Given the description of an element on the screen output the (x, y) to click on. 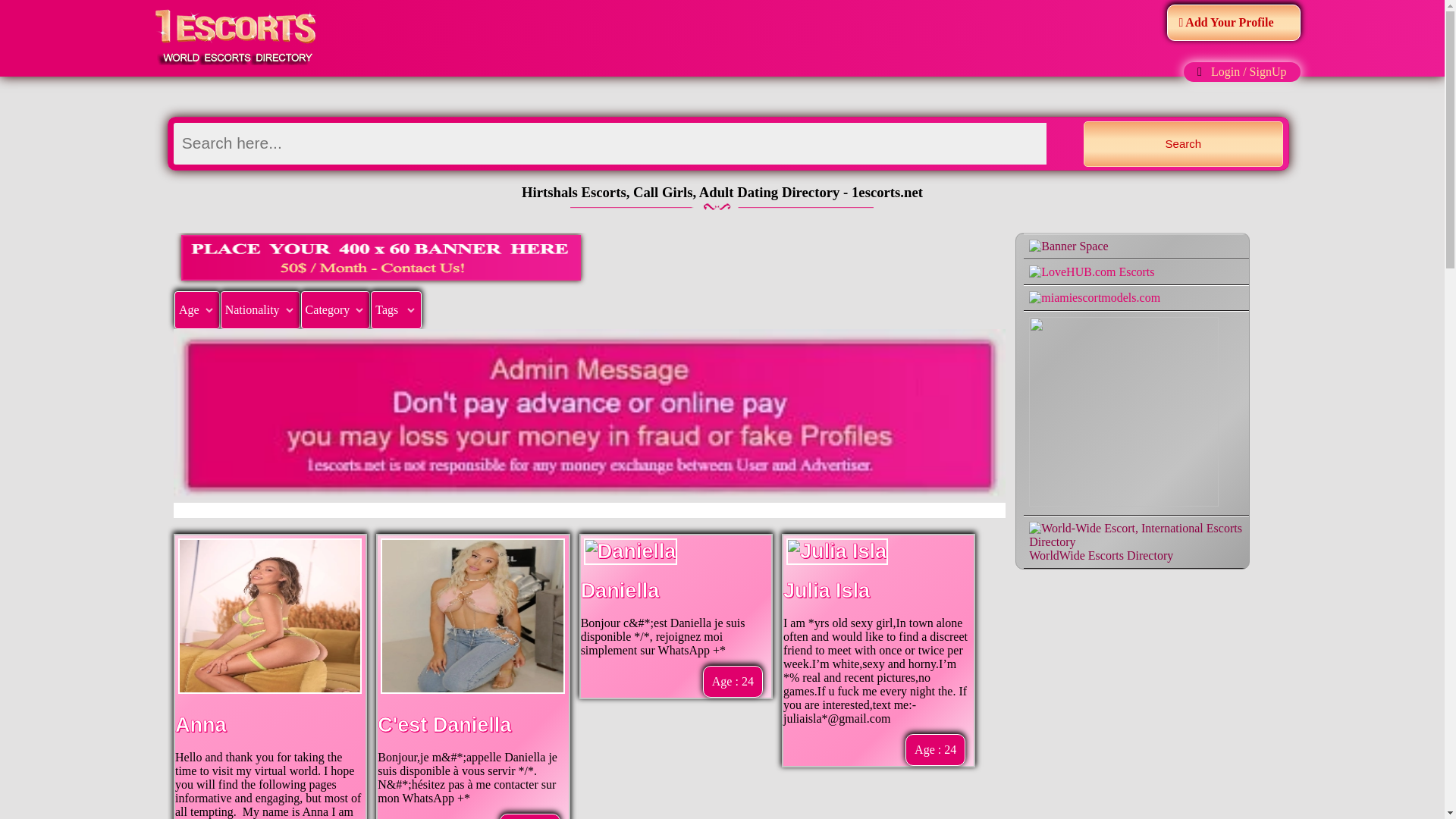
Daniella (619, 590)
Anna (200, 724)
C'est Daniella (444, 724)
Julia Isla (826, 590)
Search (1182, 144)
